Given the description of an element on the screen output the (x, y) to click on. 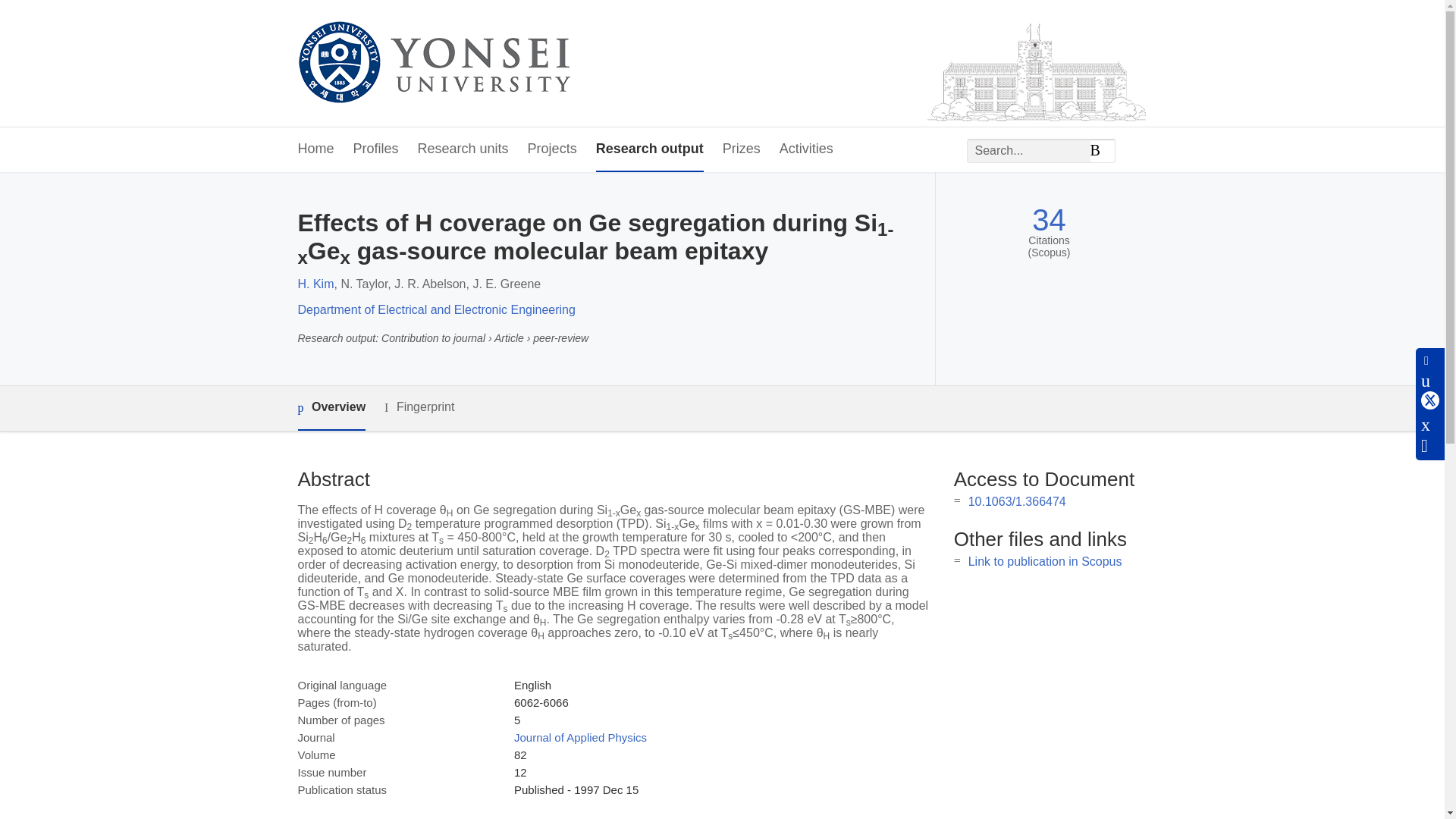
Department of Electrical and Electronic Engineering (436, 309)
Research units (462, 149)
Activities (805, 149)
Research output (649, 149)
Overview (331, 407)
Journal of Applied Physics (579, 737)
H. Kim (315, 283)
Yonsei University Home (433, 63)
Link to publication in Scopus (1045, 561)
34 (1048, 220)
Fingerprint (419, 407)
Projects (551, 149)
Profiles (375, 149)
